Given the description of an element on the screen output the (x, y) to click on. 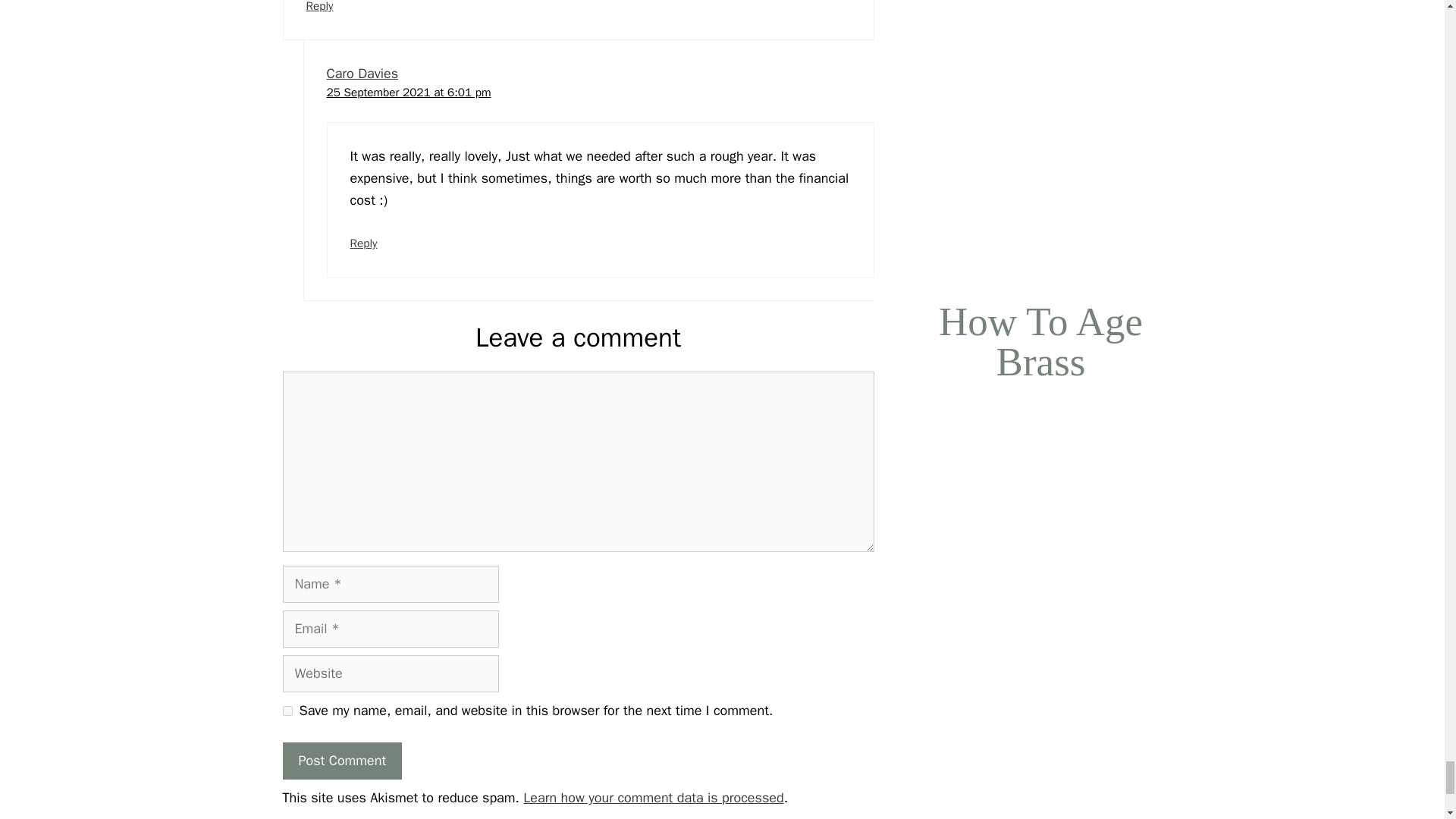
Post Comment (341, 760)
yes (287, 710)
